Given the description of an element on the screen output the (x, y) to click on. 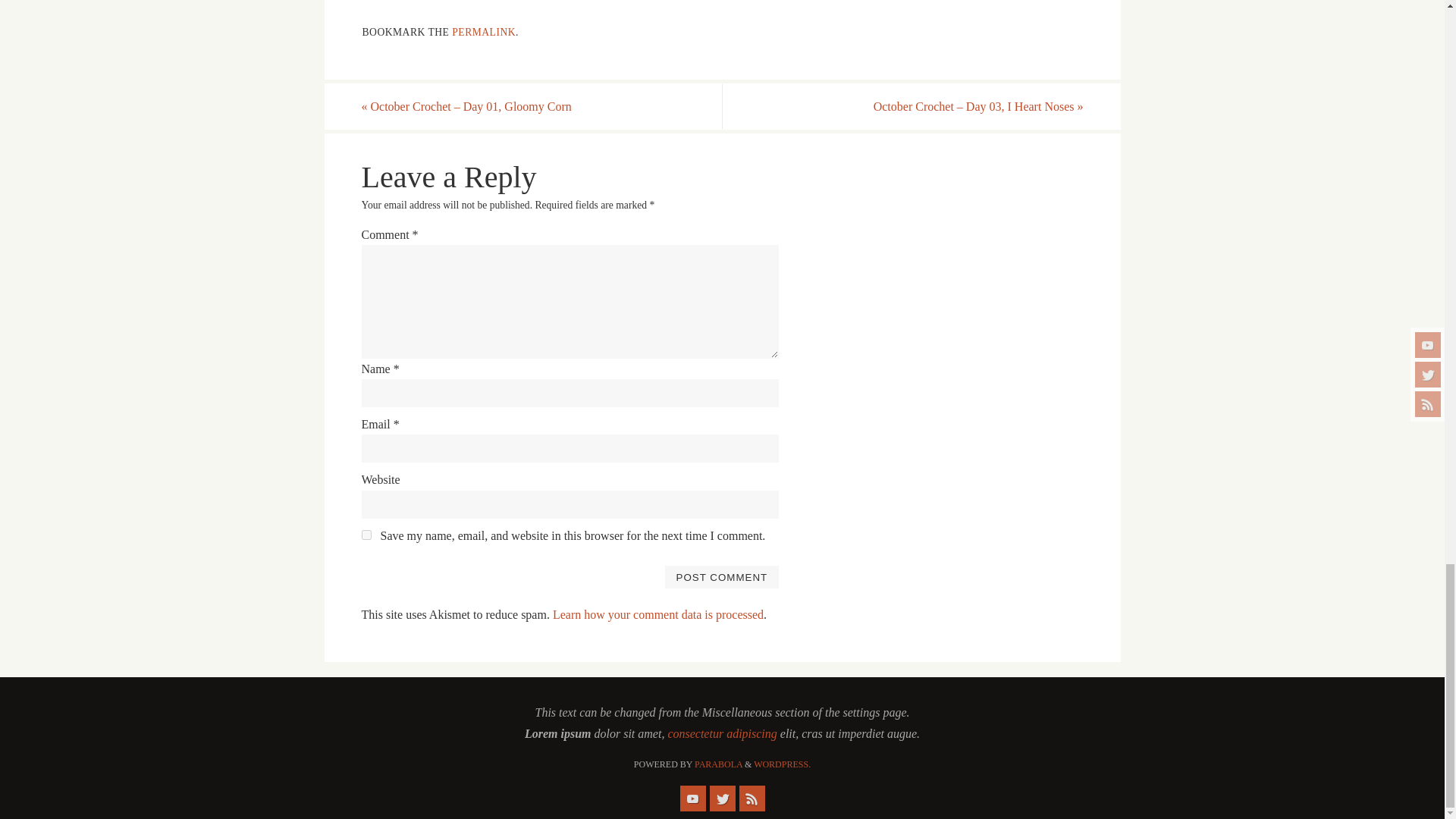
WORDPRESS. (782, 764)
Learn how your comment data is processed (657, 614)
PARABOLA (718, 764)
Post Comment (721, 576)
yes (366, 534)
Post Comment (721, 576)
Twitter (722, 798)
Semantic Personal Publishing Platform (782, 764)
Parabola Theme by Cryout Creations (718, 764)
consectetur adipiscing (721, 733)
